Given the description of an element on the screen output the (x, y) to click on. 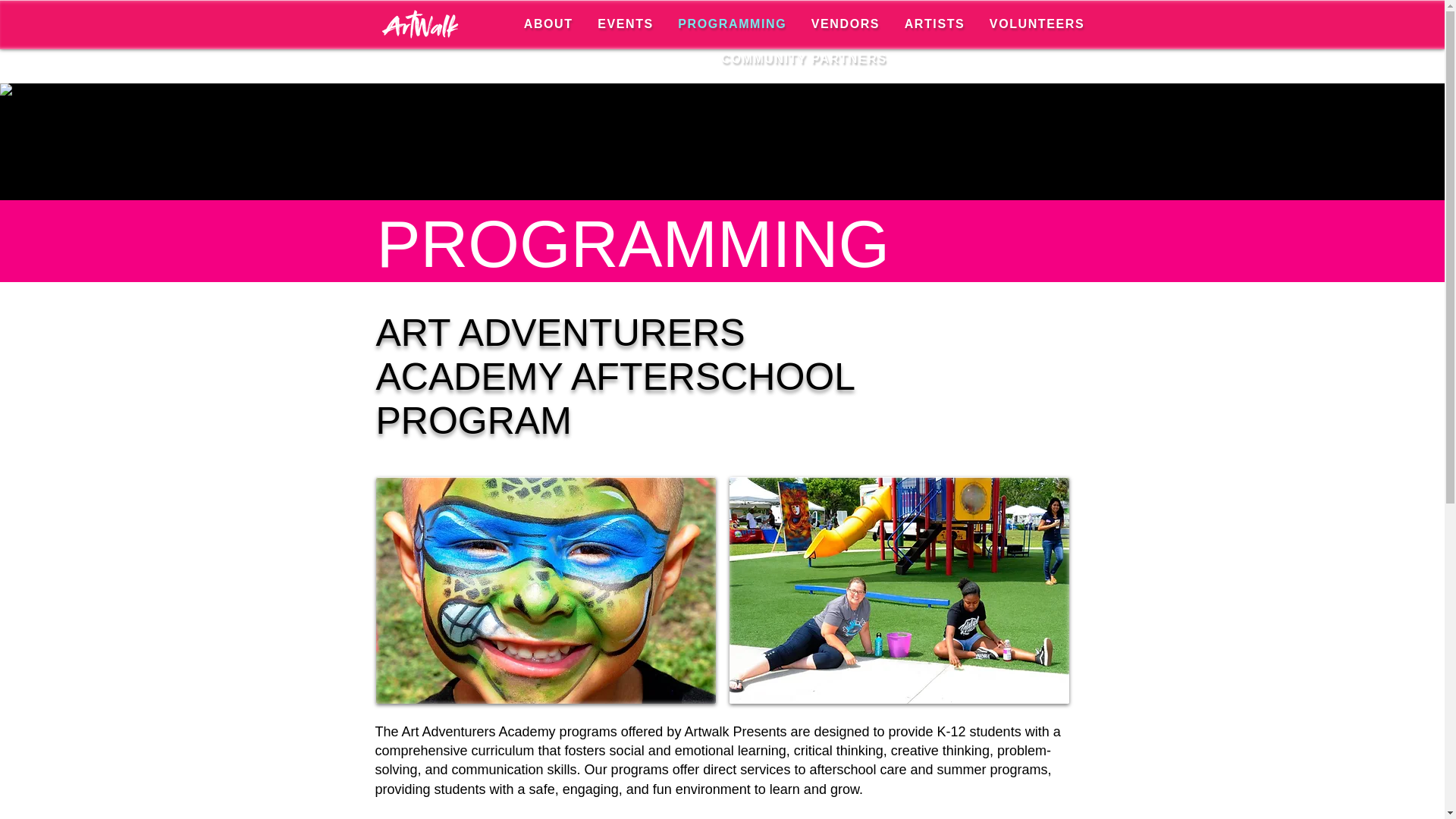
VOLUNTEERS (1036, 23)
PROGRAMMING (731, 23)
COMMUNITY PARTNERS (803, 59)
ARTISTS (934, 23)
VENDORS (845, 23)
ABOUT (546, 23)
